Given the description of an element on the screen output the (x, y) to click on. 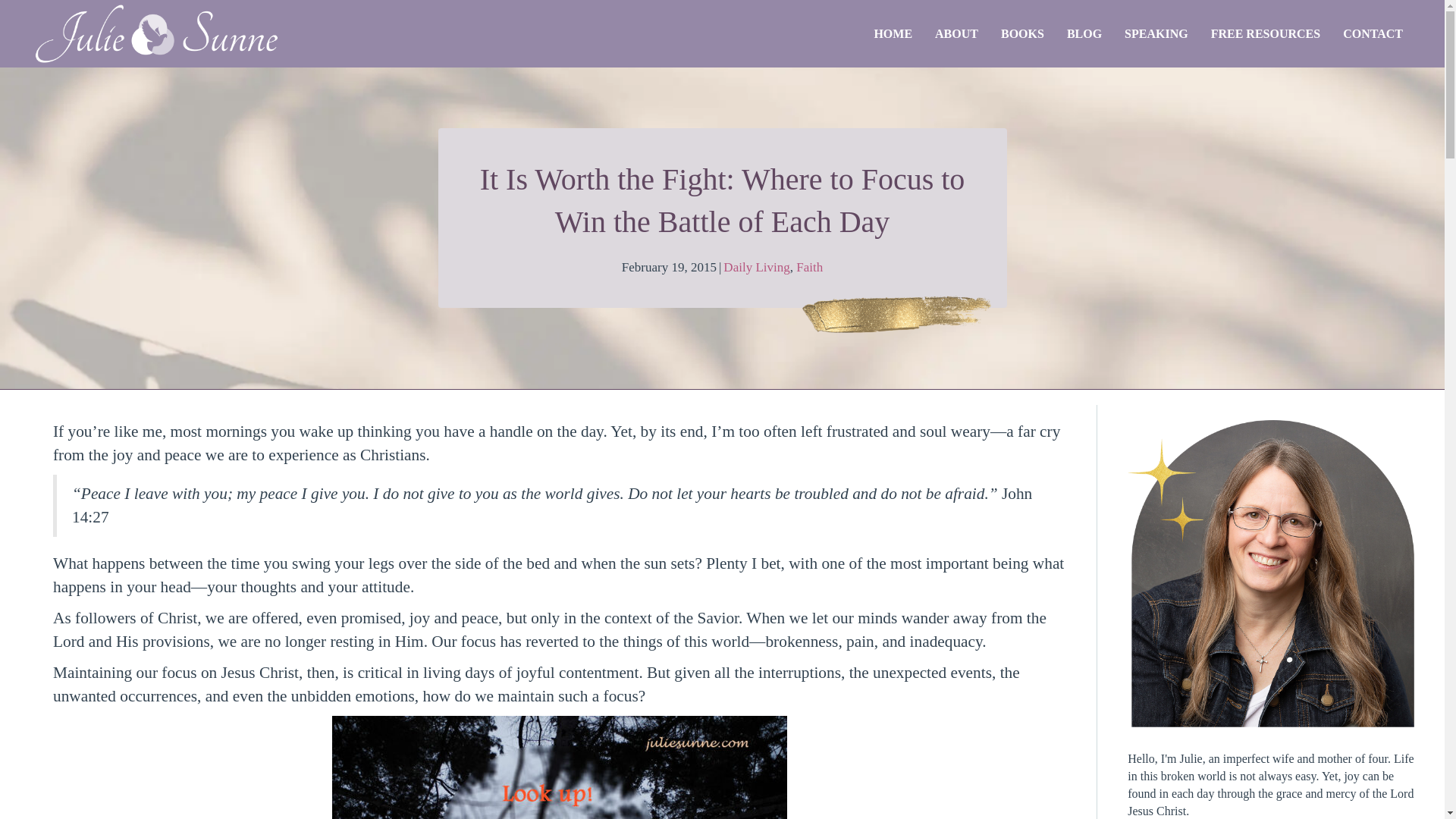
FREE RESOURCES (1265, 33)
Daily Living (756, 267)
Faith (809, 267)
ABOUT (956, 33)
CONTACT (1372, 33)
HOME (892, 33)
BOOKS (1022, 33)
SPEAKING (1156, 33)
